Given the description of an element on the screen output the (x, y) to click on. 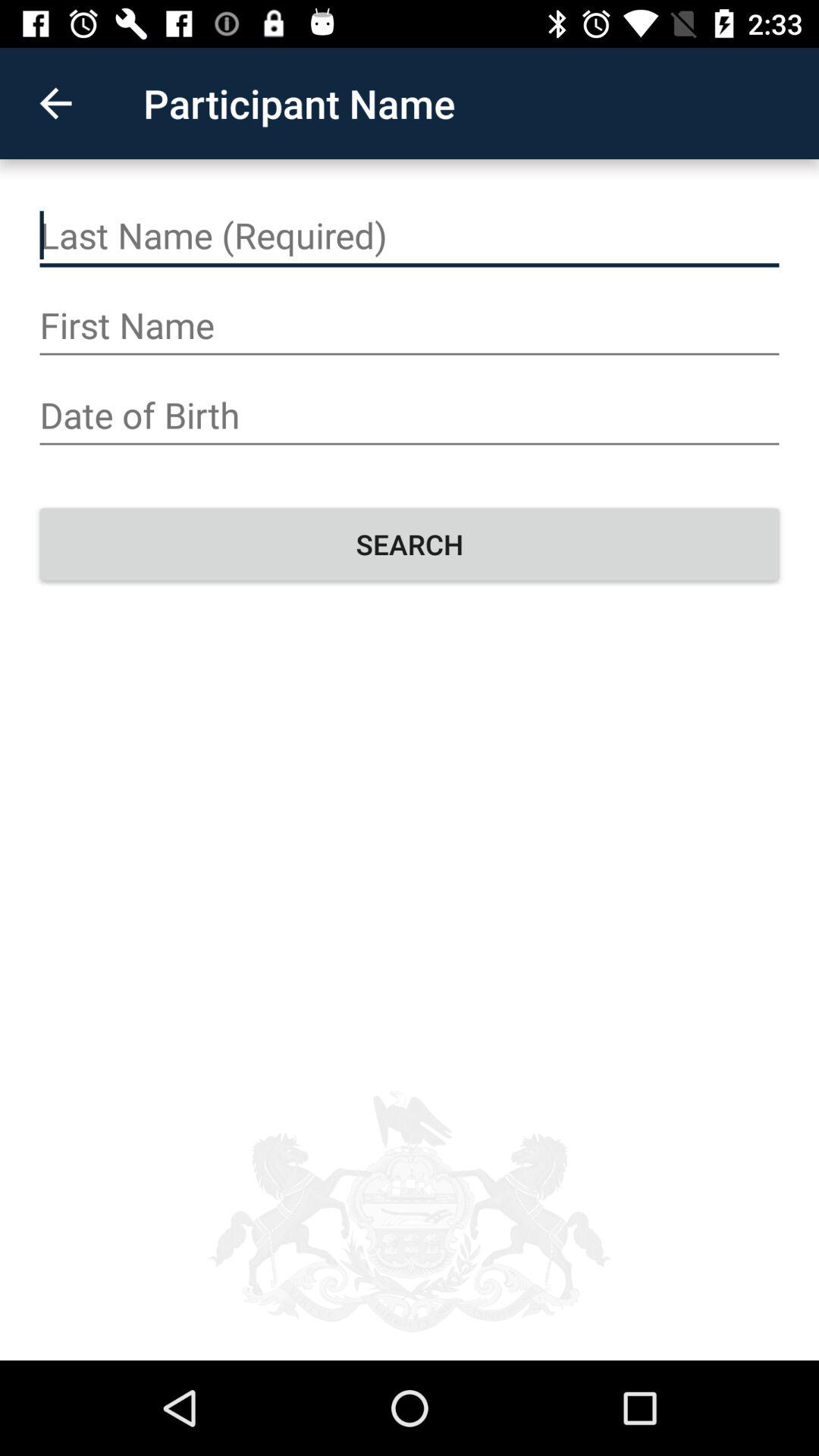
choose icon at the center (409, 544)
